Given the description of an element on the screen output the (x, y) to click on. 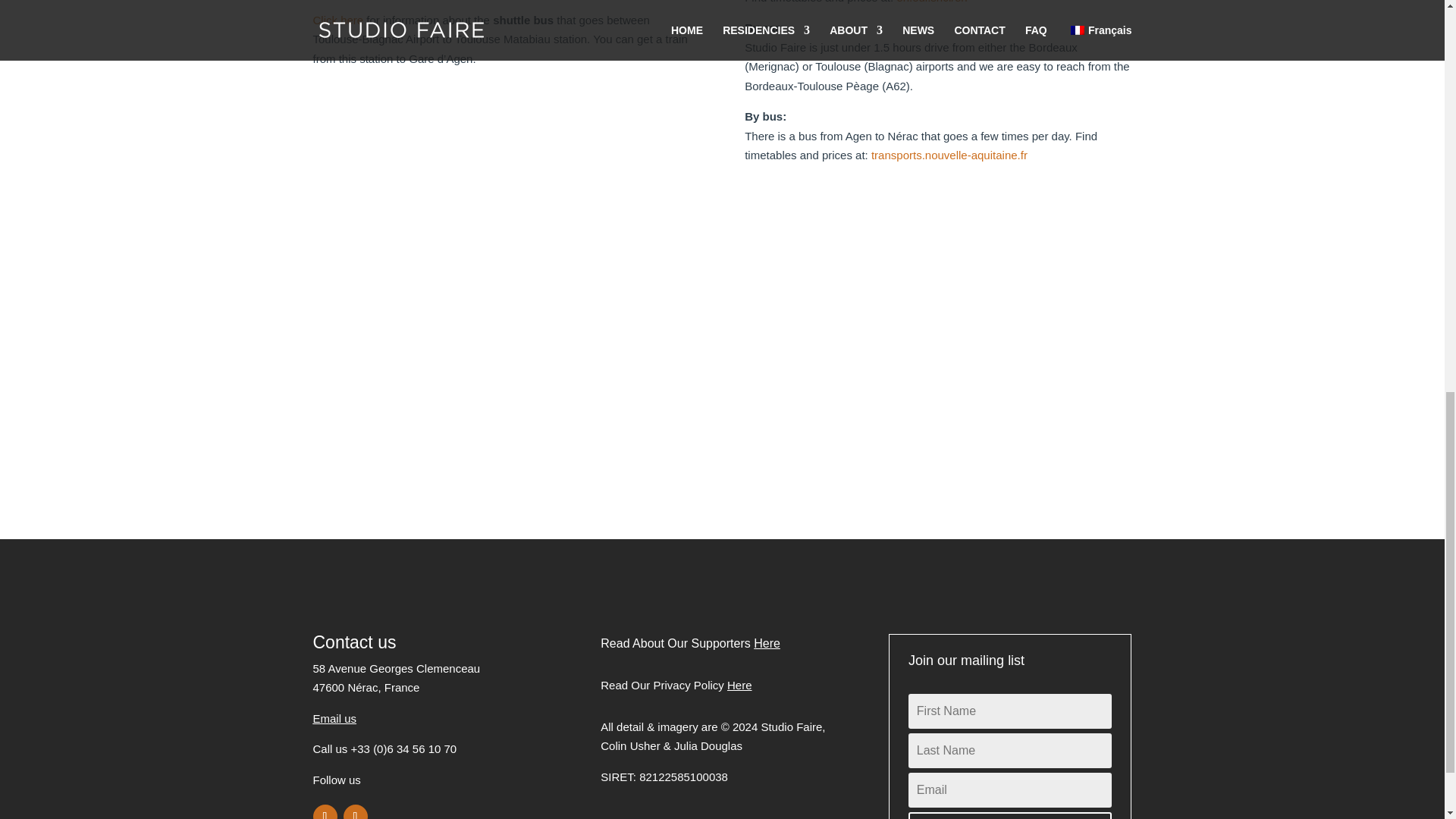
Follow on Instagram (354, 811)
Follow on Facebook (324, 811)
